Given the description of an element on the screen output the (x, y) to click on. 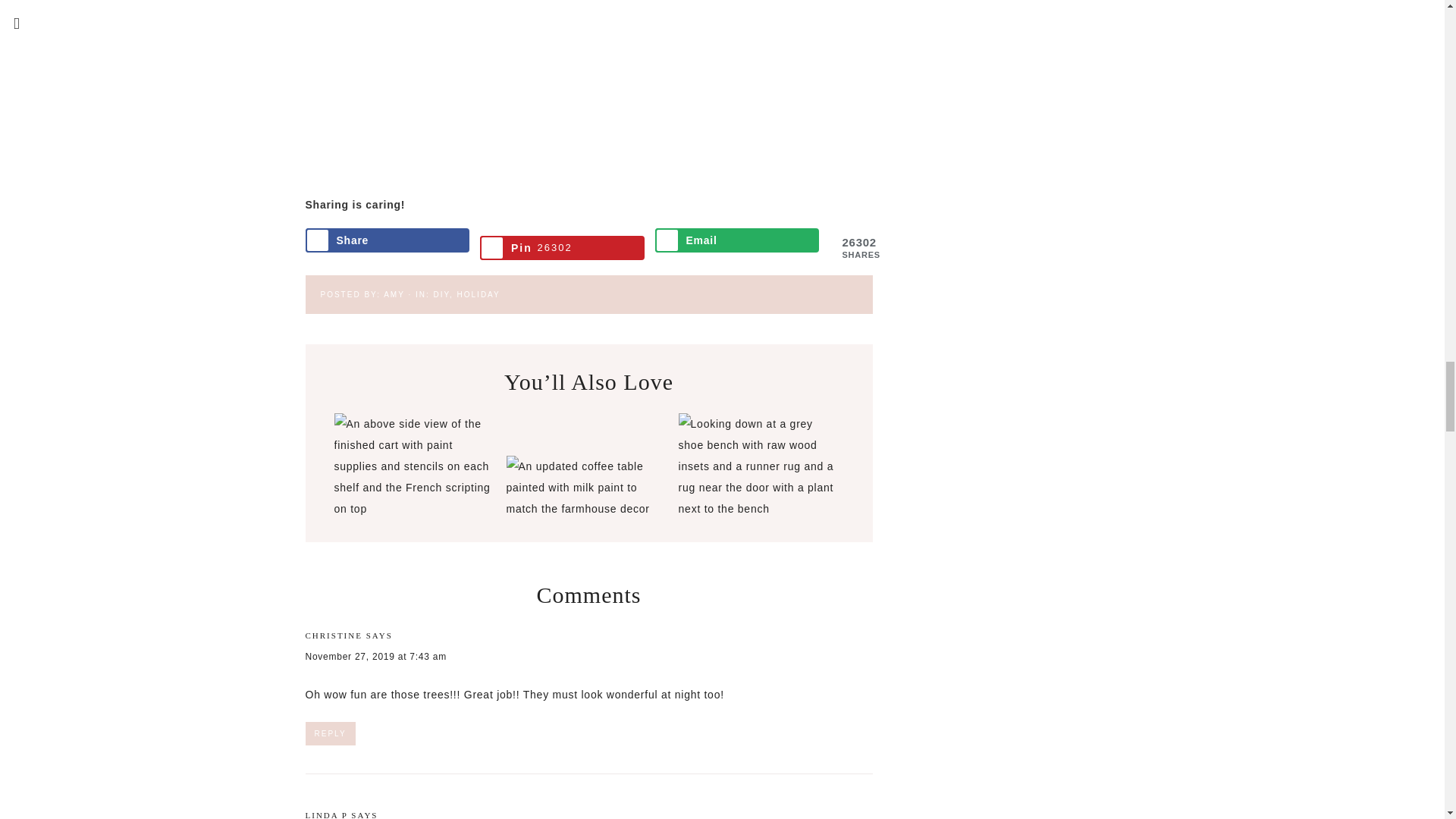
DIY Christmas e-book opt-in (588, 160)
Permanent Link to DIY Craft Cart (413, 508)
Save to Pinterest (562, 247)
Send over email (737, 240)
Share on Facebook (386, 240)
